Given the description of an element on the screen output the (x, y) to click on. 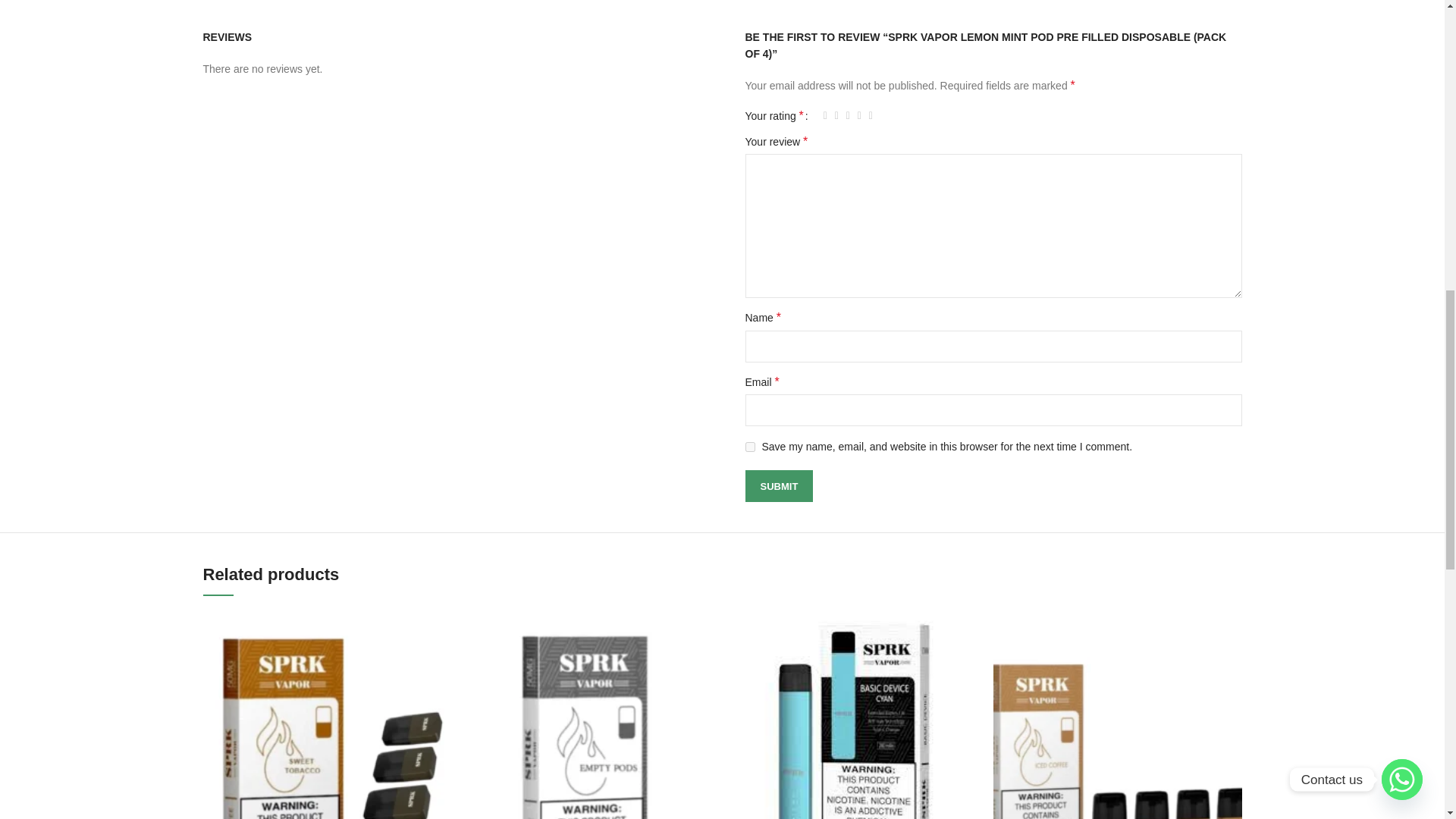
yes (749, 447)
Submit (778, 486)
